Given the description of an element on the screen output the (x, y) to click on. 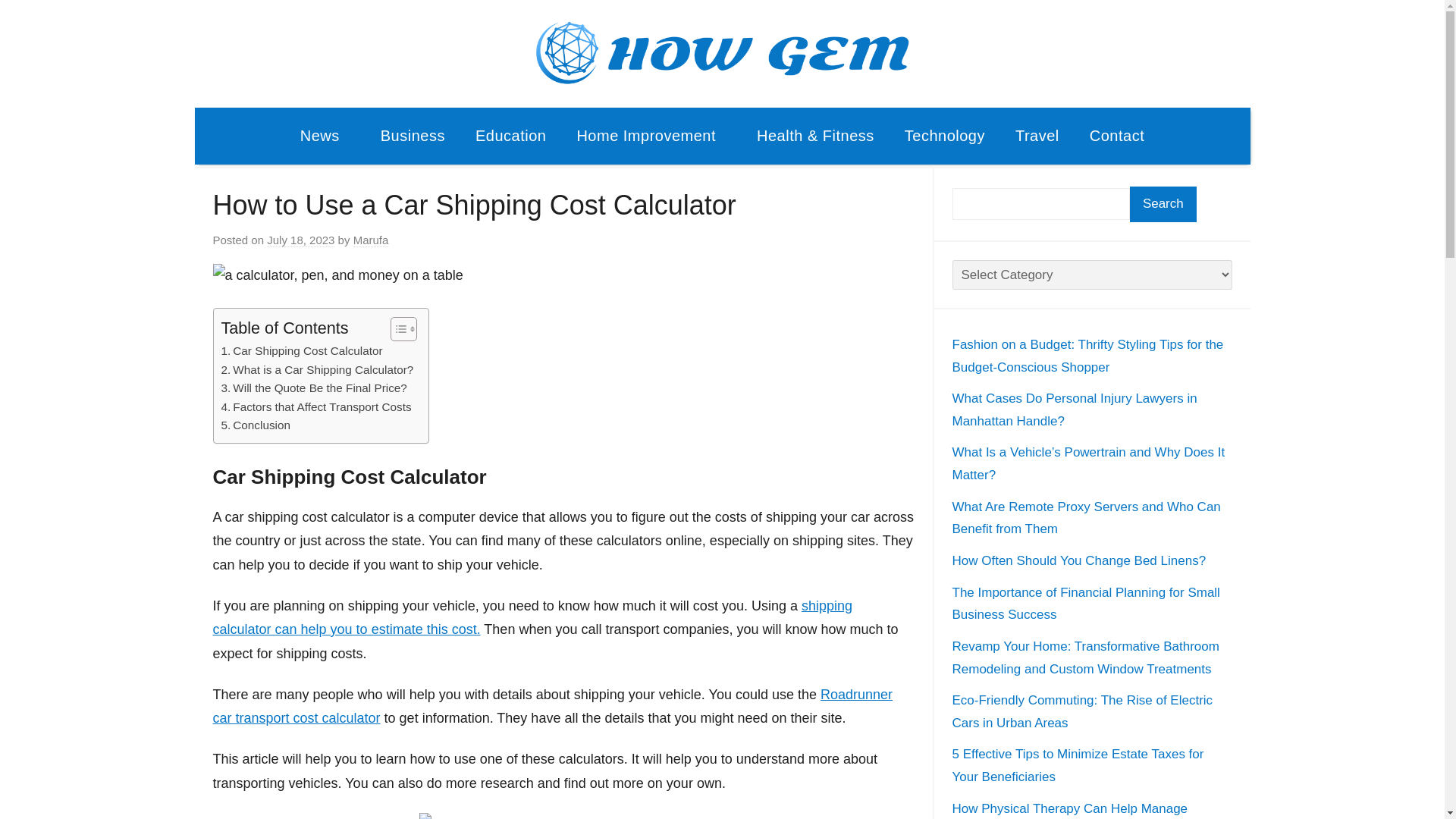
shipping calculator can help you to estimate this cost. (531, 618)
View all posts by Marufa (370, 240)
Education (510, 136)
Home Improvement (650, 136)
Conclusion (256, 425)
July 18, 2023 (300, 240)
Business (412, 136)
Car Shipping Cost Calculator (301, 351)
Will the Quote Be the Final Price? (314, 388)
Car Shipping Cost Calculator (301, 351)
